Given the description of an element on the screen output the (x, y) to click on. 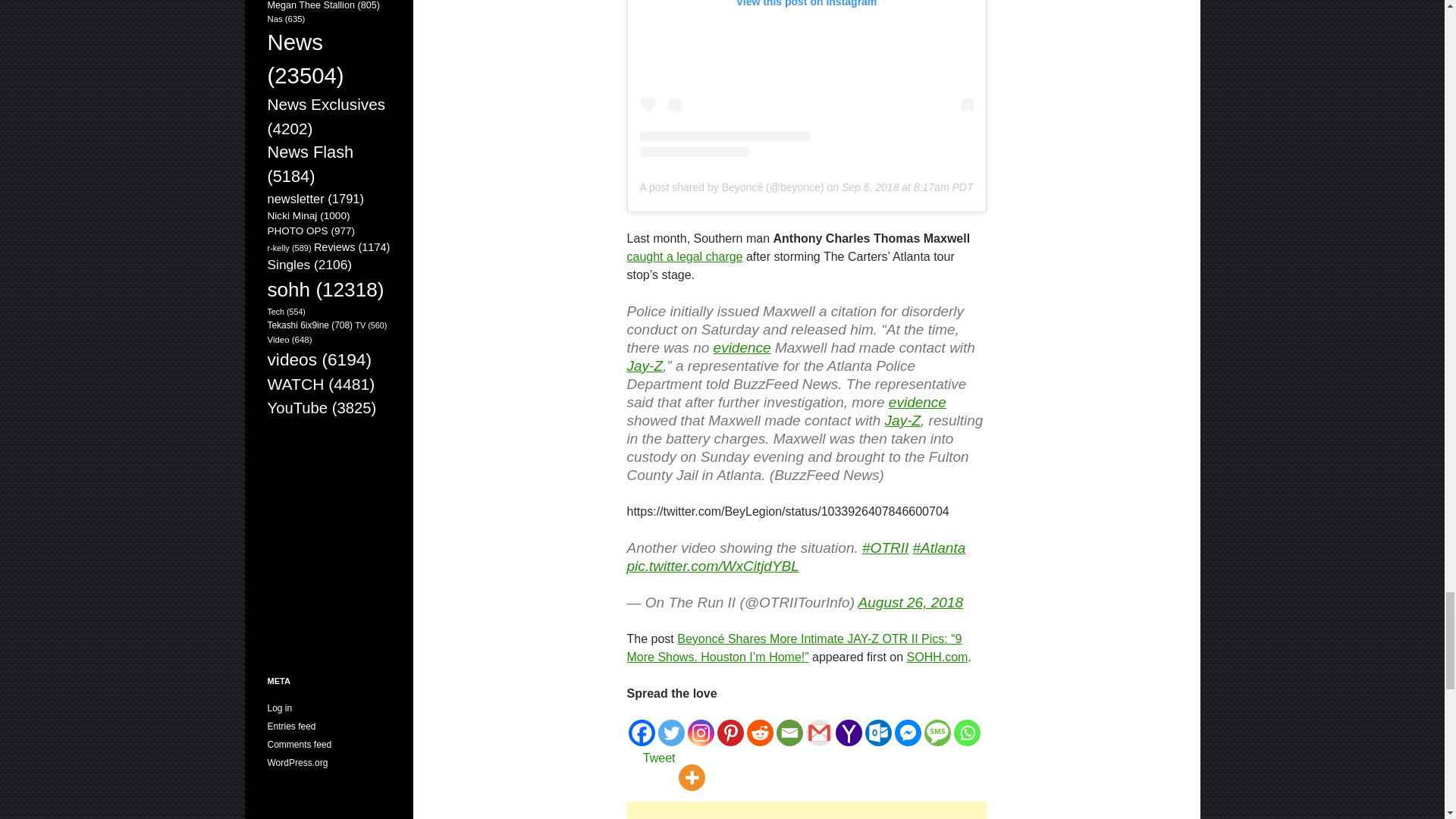
Jay Z (644, 365)
Evidence (742, 347)
Jay Z (903, 420)
Evidence (917, 401)
